Given the description of an element on the screen output the (x, y) to click on. 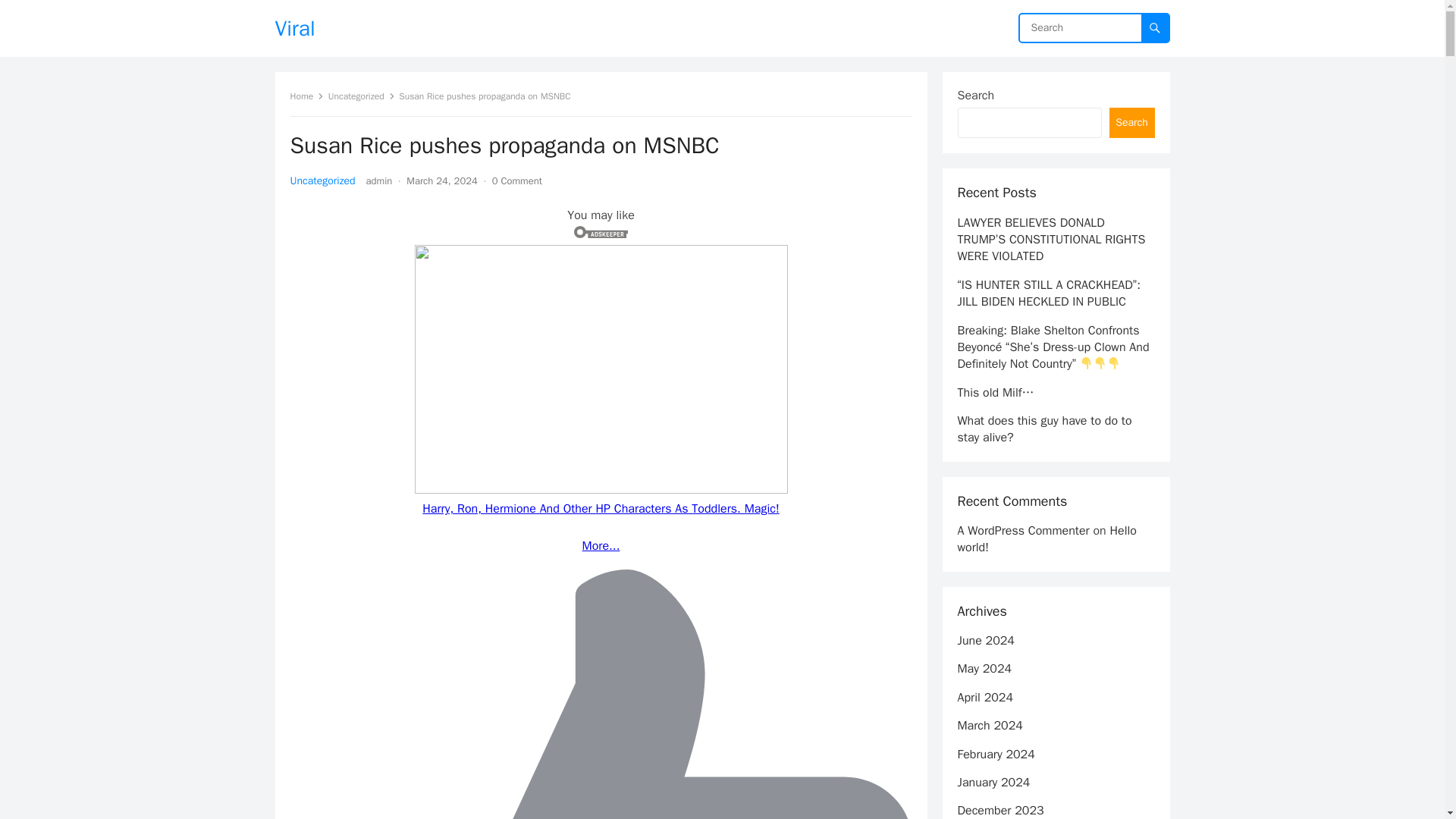
Uncategorized (322, 180)
Search (1131, 122)
Posts by admin (379, 180)
Uncategorized (361, 96)
Home (306, 96)
admin (379, 180)
0 Comment (516, 180)
